Given the description of an element on the screen output the (x, y) to click on. 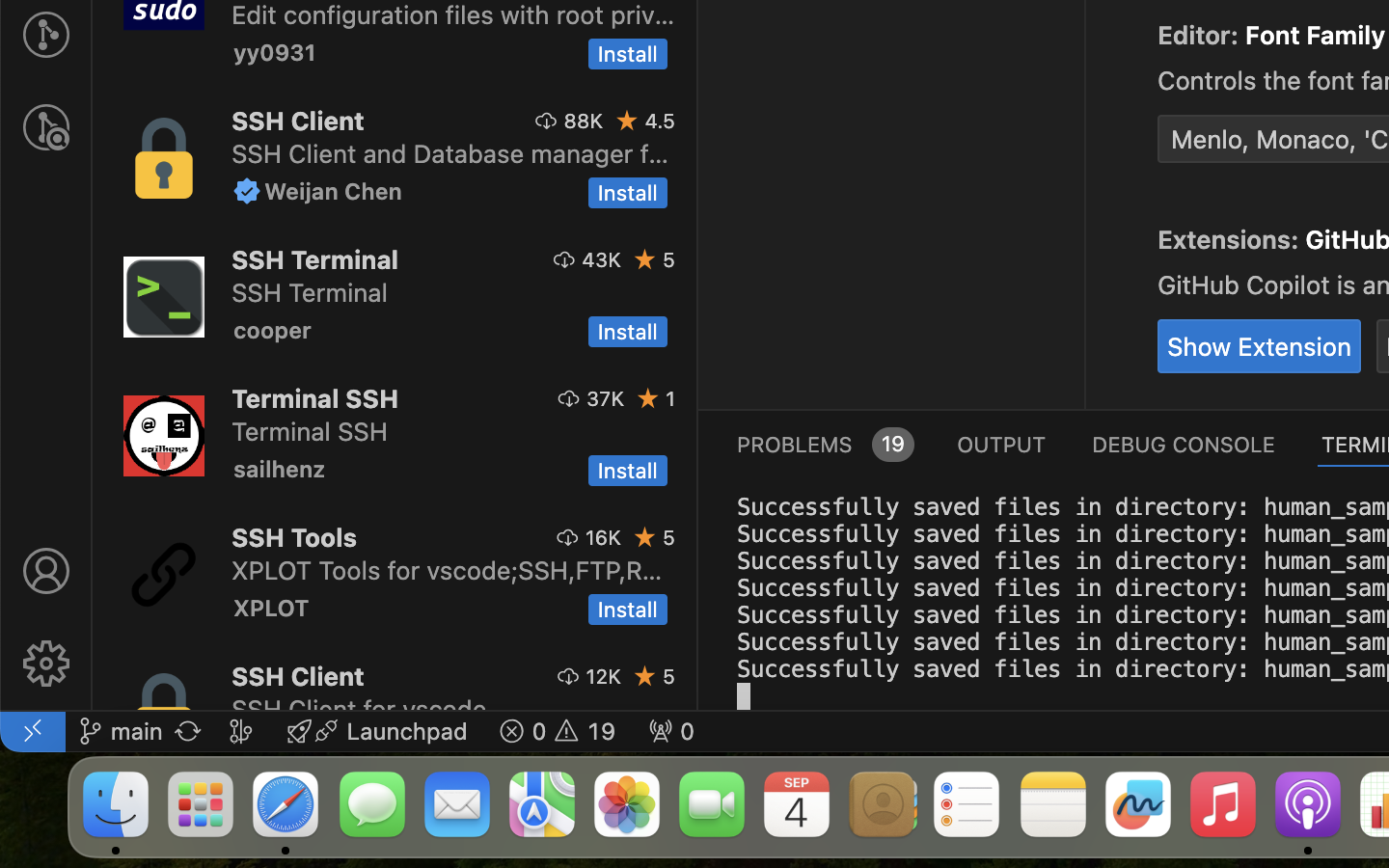
0 PROBLEMS 19 Element type: AXRadioButton (824, 443)
 Element type: AXStaticText (569, 397)
SSH Tools Element type: AXStaticText (294, 536)
cooper Element type: AXStaticText (272, 329)
SSH Client Element type: AXStaticText (297, 675)
